Given the description of an element on the screen output the (x, y) to click on. 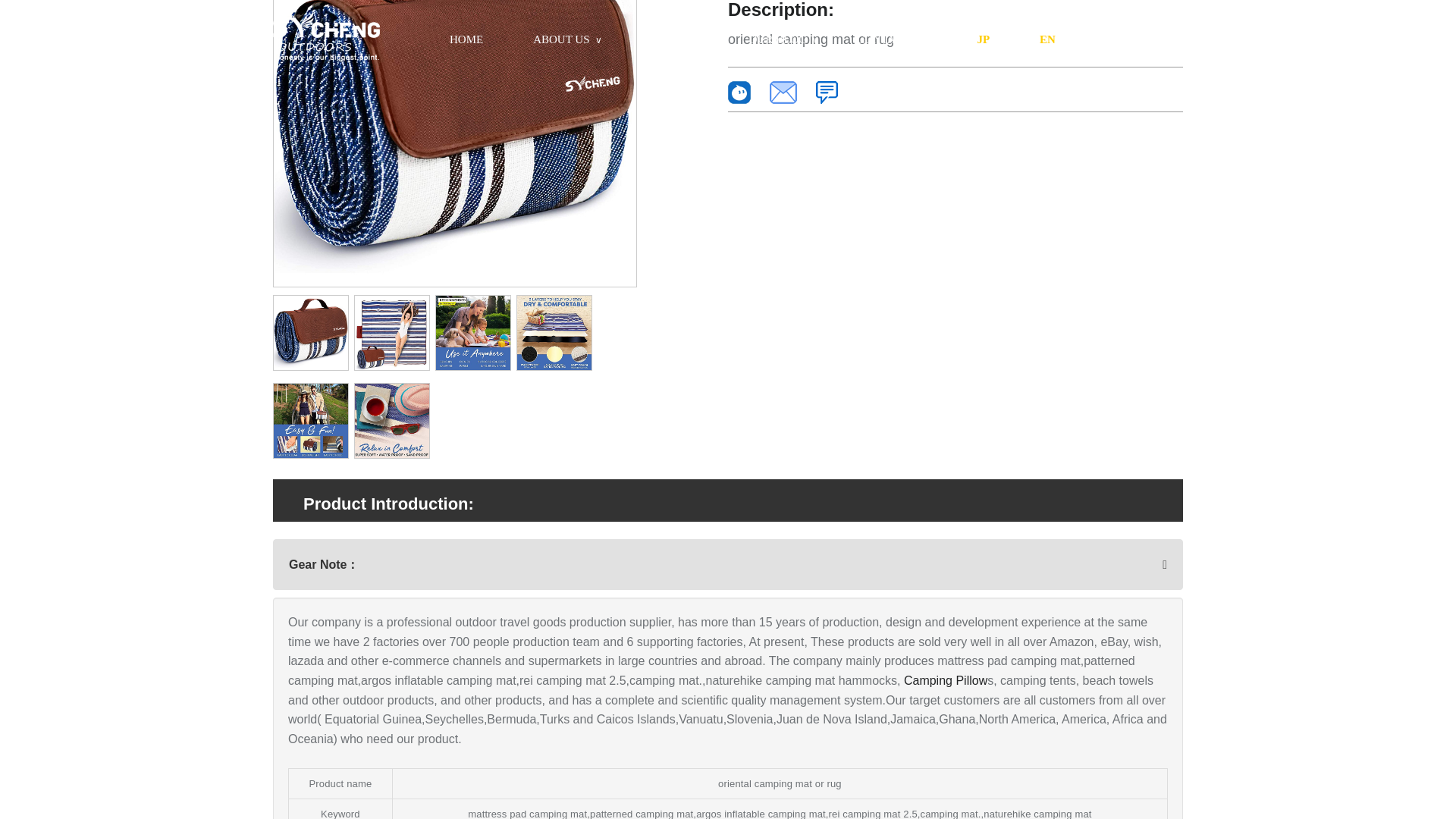
Alibaba Customer Service (739, 91)
oriental camping mat or rug (454, 143)
online message (826, 91)
E-mail to us (783, 91)
